Given the description of an element on the screen output the (x, y) to click on. 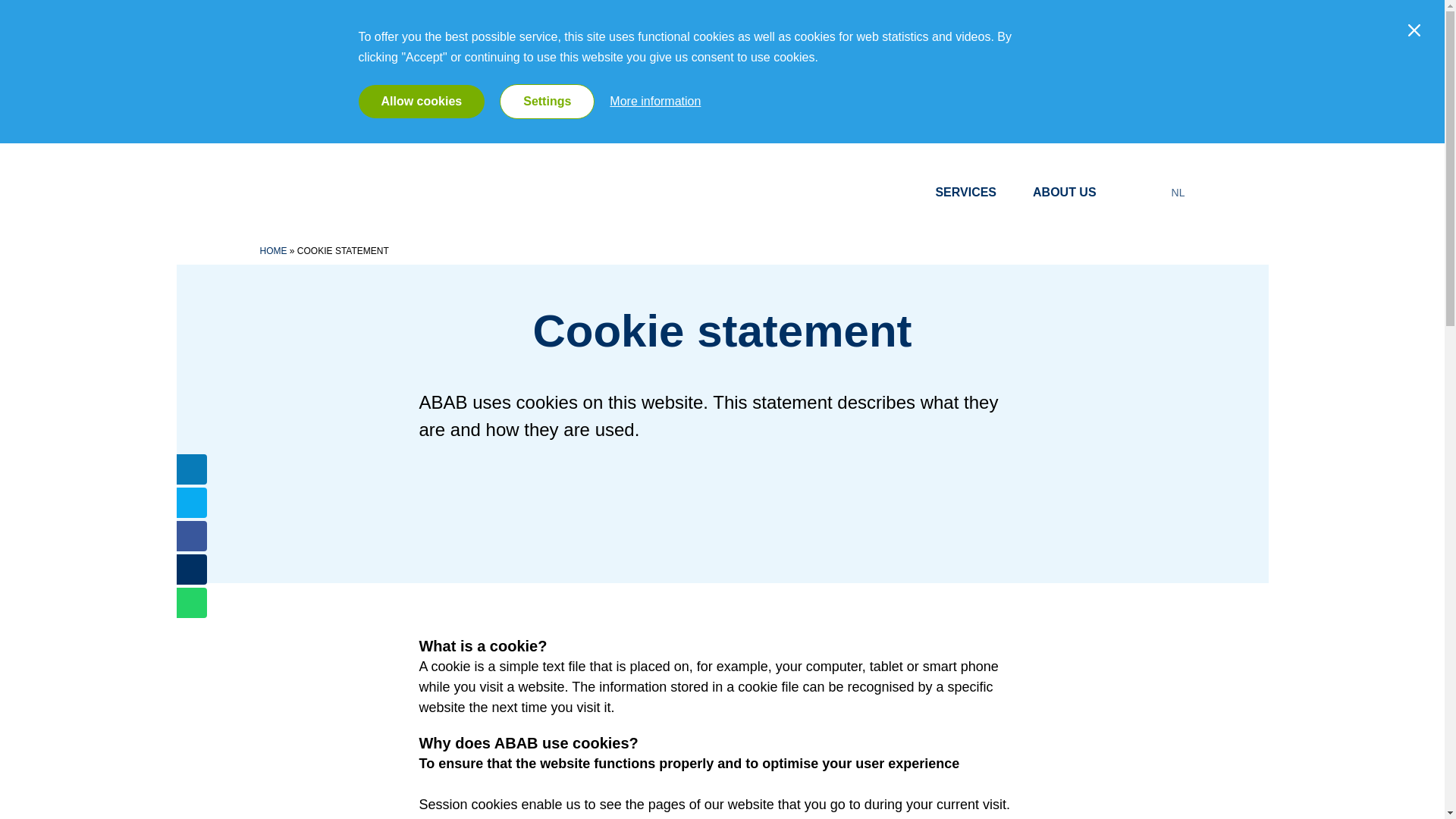
Share on LinkedIn (191, 469)
SERVICES (972, 192)
NL (1178, 192)
More information (655, 100)
Home (372, 191)
Share on Facebook (191, 535)
HOME (272, 250)
Settings (546, 101)
Share on Twitter (191, 502)
